Given the description of an element on the screen output the (x, y) to click on. 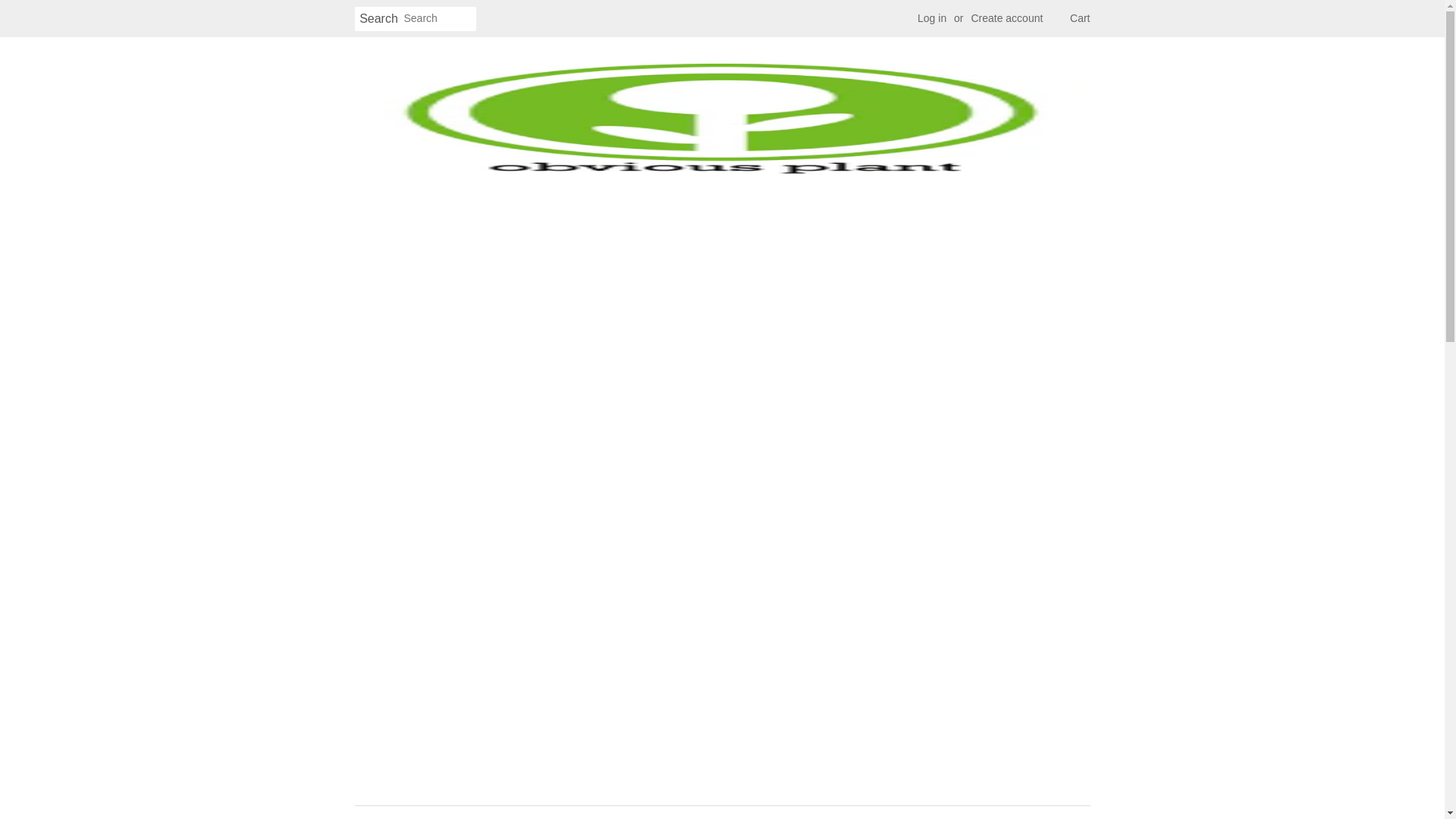
Home (693, 812)
Cart (1079, 18)
Search (379, 18)
Create account (1006, 18)
Catalog (745, 812)
Log in (931, 18)
